Given the description of an element on the screen output the (x, y) to click on. 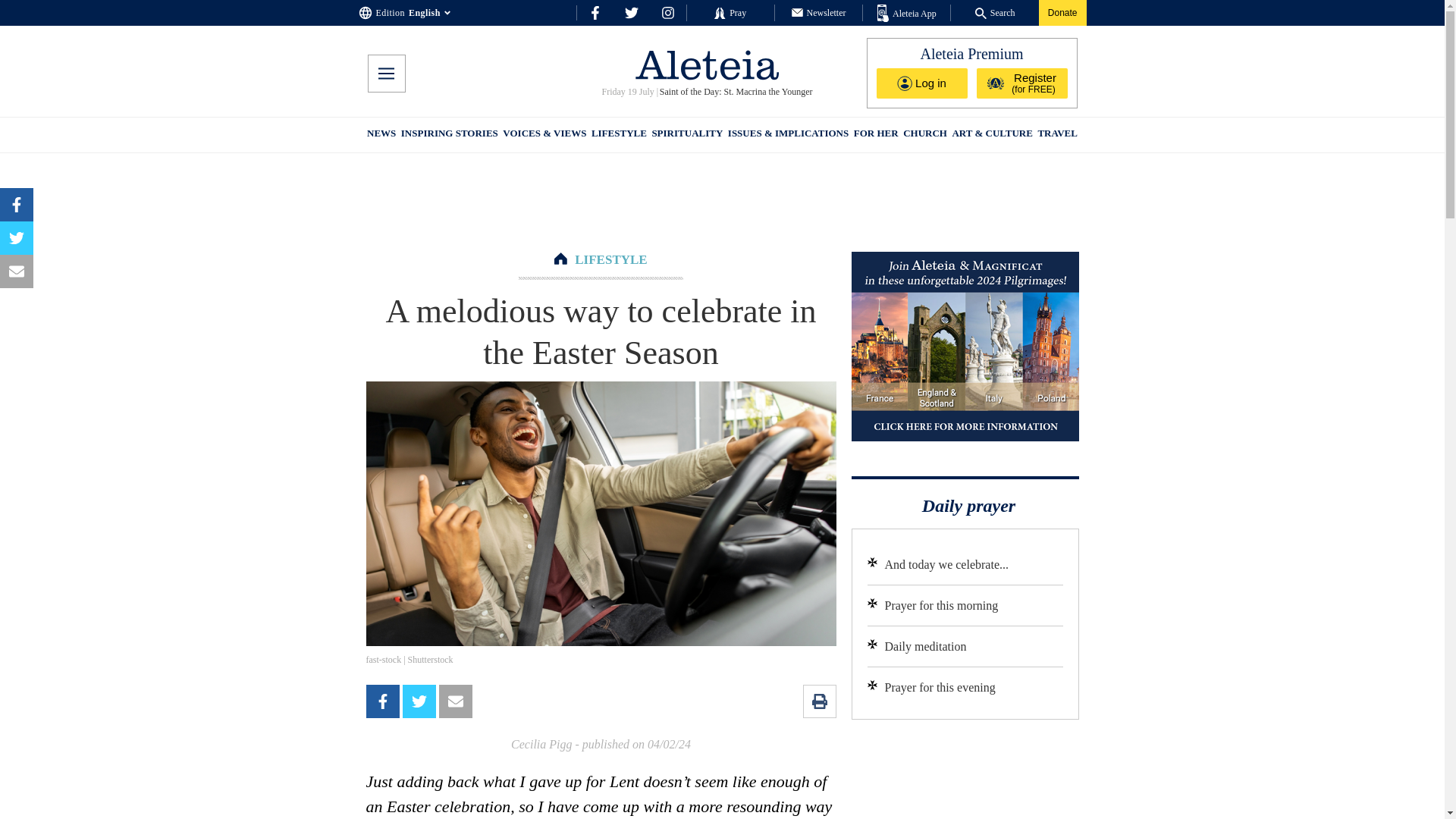
SPIRITUALITY (686, 134)
Saint of the Day: St. Macrina the Younger (735, 91)
social-tw-top-row (631, 12)
Pray (729, 12)
LIFESTYLE (610, 259)
Donate (1062, 12)
INSPIRING STORIES (449, 134)
CHURCH (924, 134)
Cecilia Pigg (541, 744)
mobile-menu-btn (385, 73)
FOR HER (875, 134)
TRAVEL (1056, 134)
Newsletter (818, 12)
Log in (922, 82)
LIFESTYLE (618, 134)
